Given the description of an element on the screen output the (x, y) to click on. 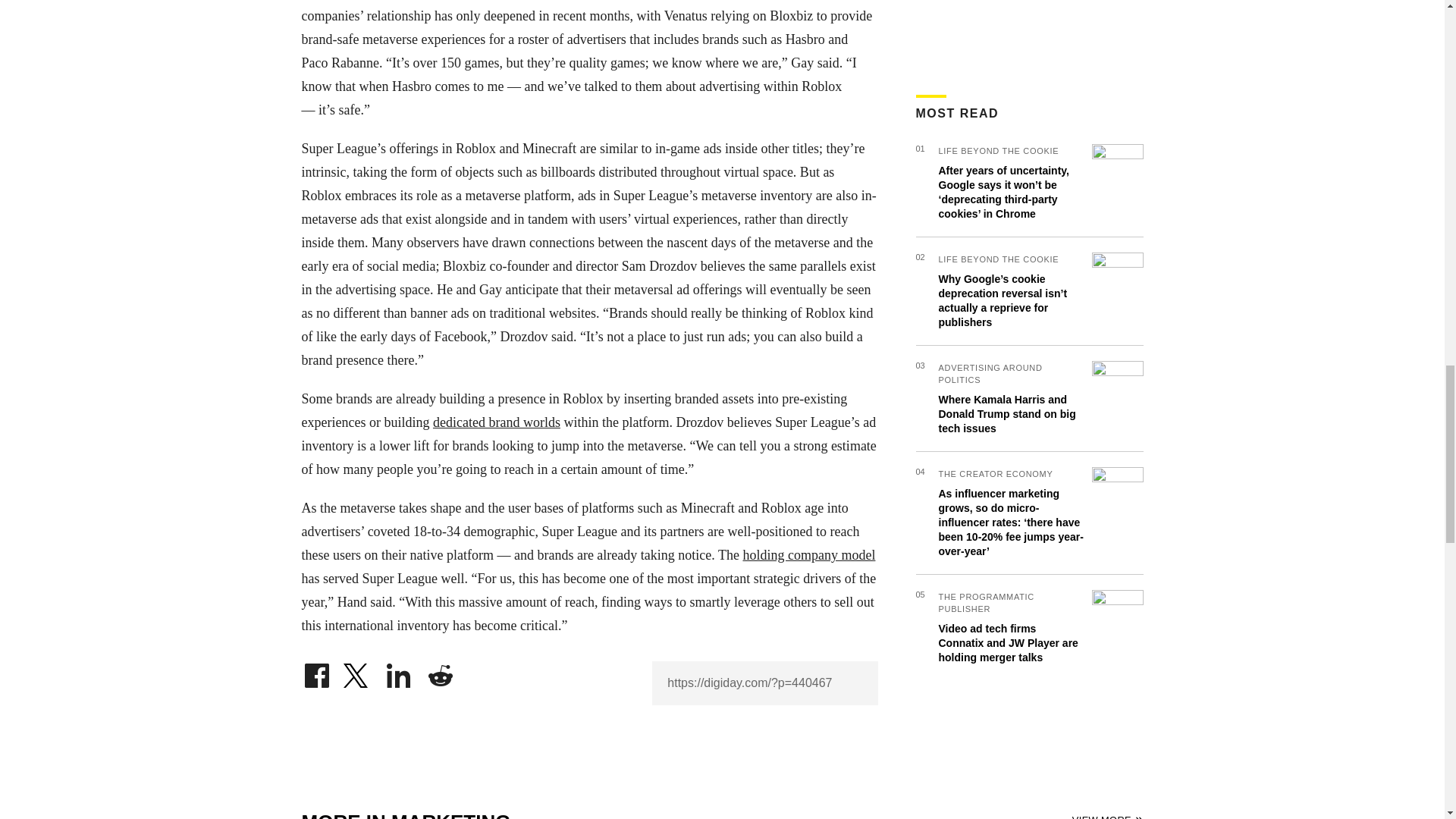
Share on Twitter (357, 671)
Share on Facebook (316, 671)
Share on LinkedIn (398, 671)
Share on Reddit (440, 671)
